Given the description of an element on the screen output the (x, y) to click on. 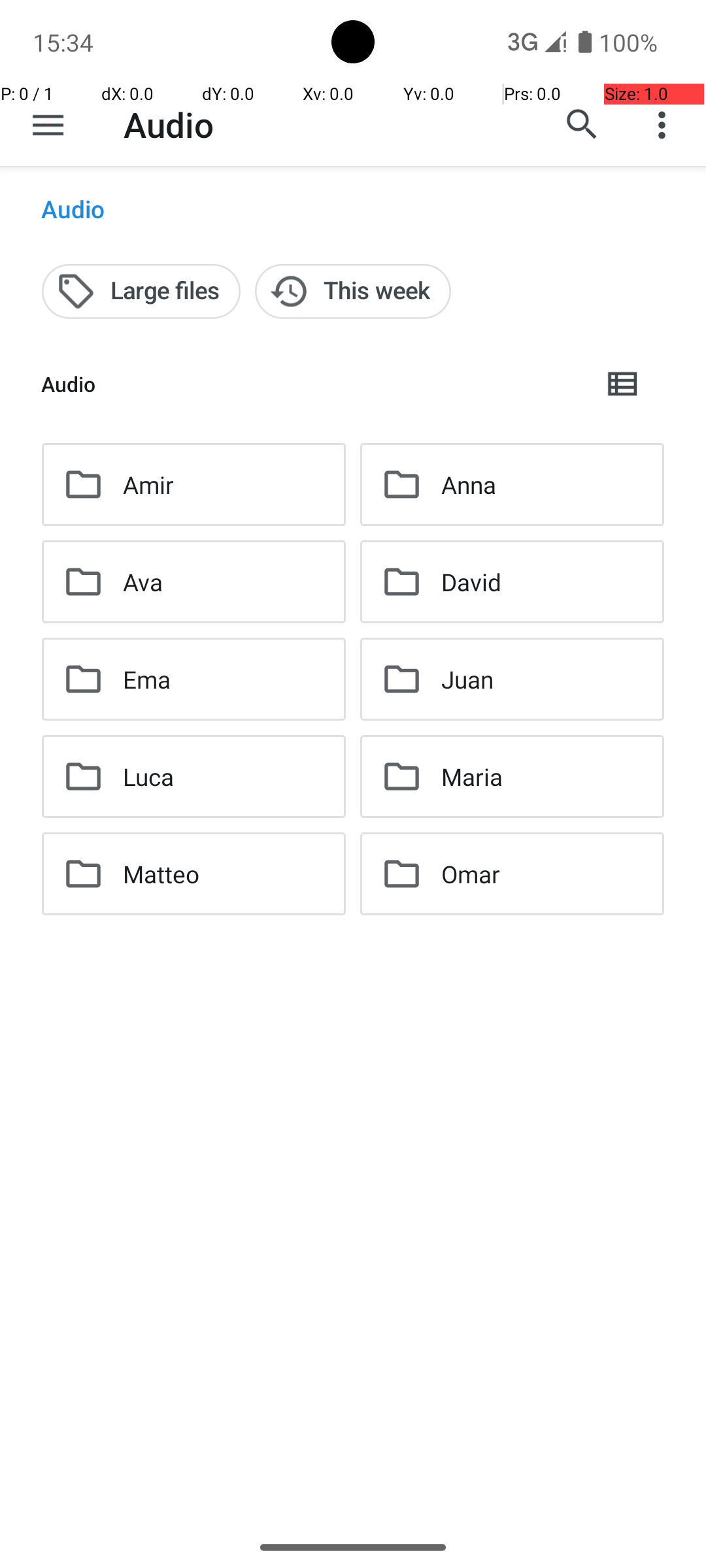
Amir Element type: android.widget.TextView (147, 484)
Anna Element type: android.widget.TextView (468, 484)
Ava Element type: android.widget.TextView (142, 581)
David Element type: android.widget.TextView (471, 581)
Ema Element type: android.widget.TextView (146, 678)
Juan Element type: android.widget.TextView (467, 678)
Luca Element type: android.widget.TextView (148, 776)
Maria Element type: android.widget.TextView (471, 776)
Matteo Element type: android.widget.TextView (160, 873)
Omar Element type: android.widget.TextView (470, 873)
